Given the description of an element on the screen output the (x, y) to click on. 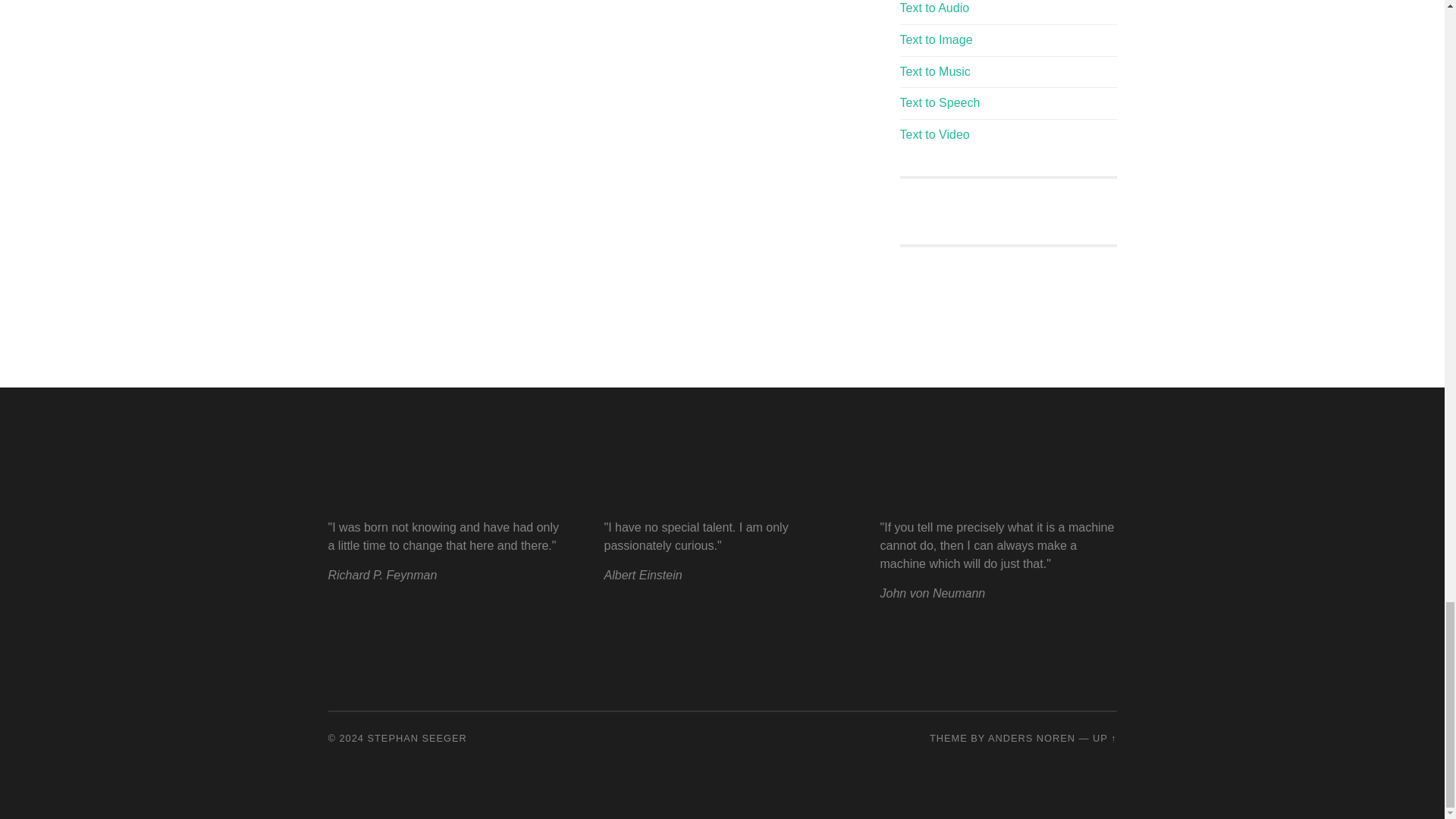
To the top (1104, 737)
